Given the description of an element on the screen output the (x, y) to click on. 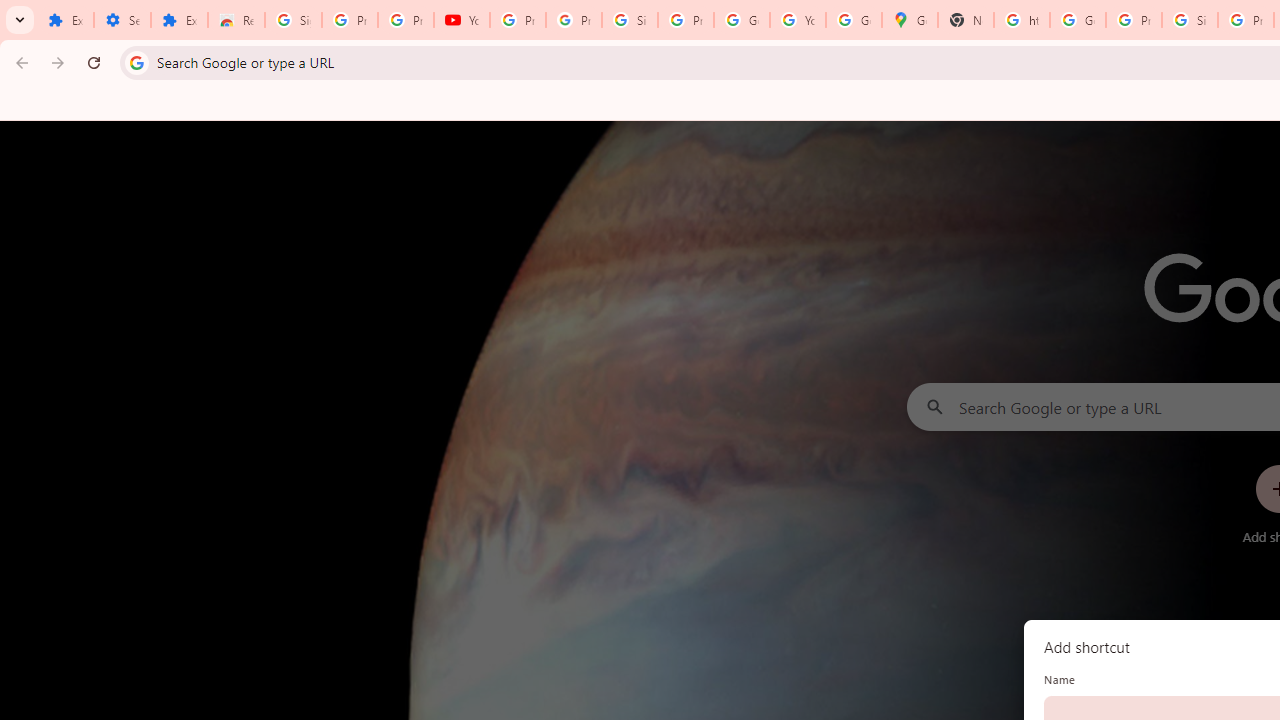
Sign in - Google Accounts (629, 20)
Google Maps (909, 20)
Reviews: Helix Fruit Jump Arcade Game (235, 20)
https://scholar.google.com/ (1021, 20)
Extensions (179, 20)
YouTube (461, 20)
